Given the description of an element on the screen output the (x, y) to click on. 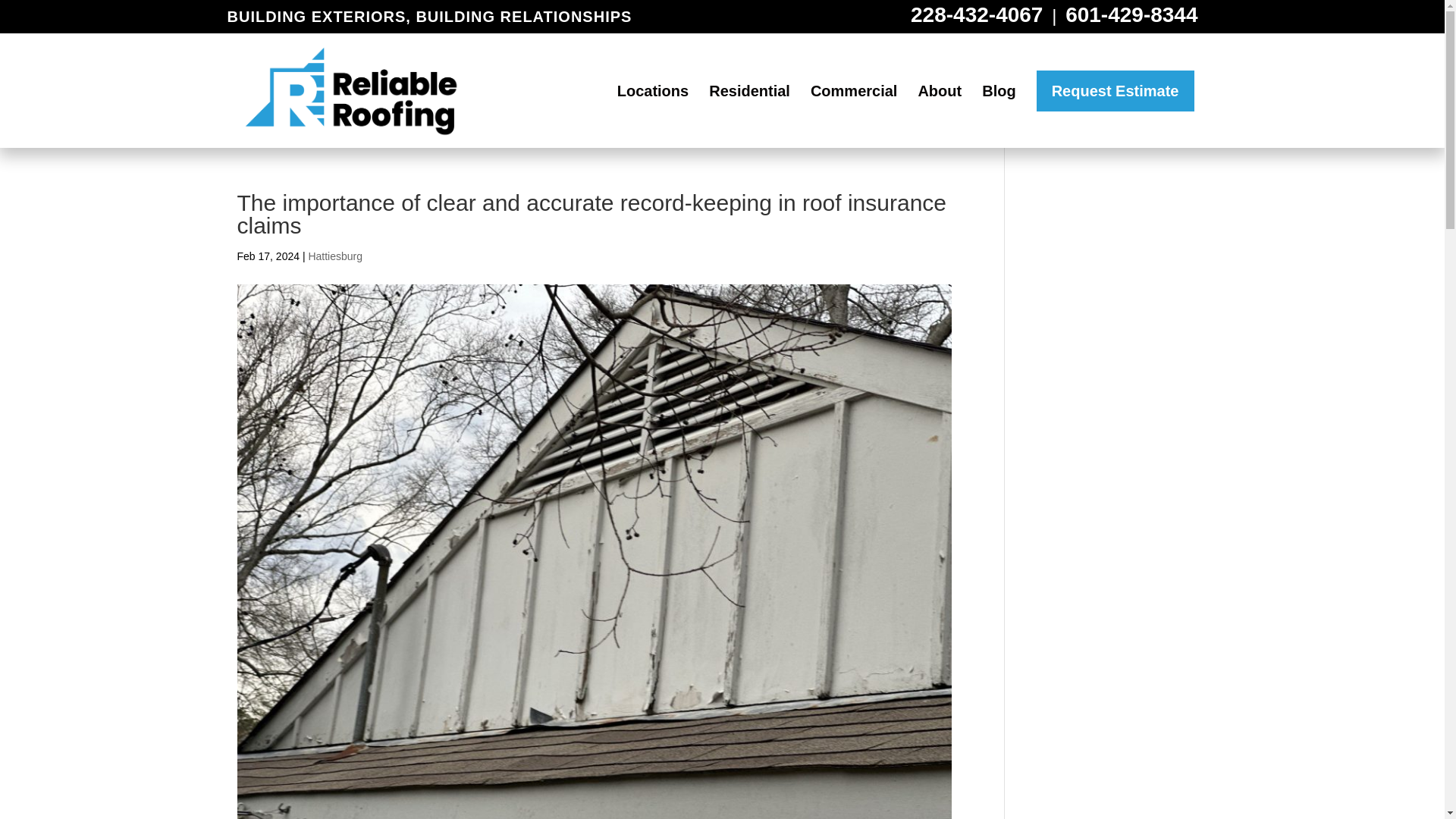
Commercial (854, 111)
Hattiesburg (334, 256)
Request Estimate (1114, 89)
601-429-8344 (1130, 14)
Residential (749, 111)
Locations (652, 111)
228-432-4067 (976, 14)
